Given the description of an element on the screen output the (x, y) to click on. 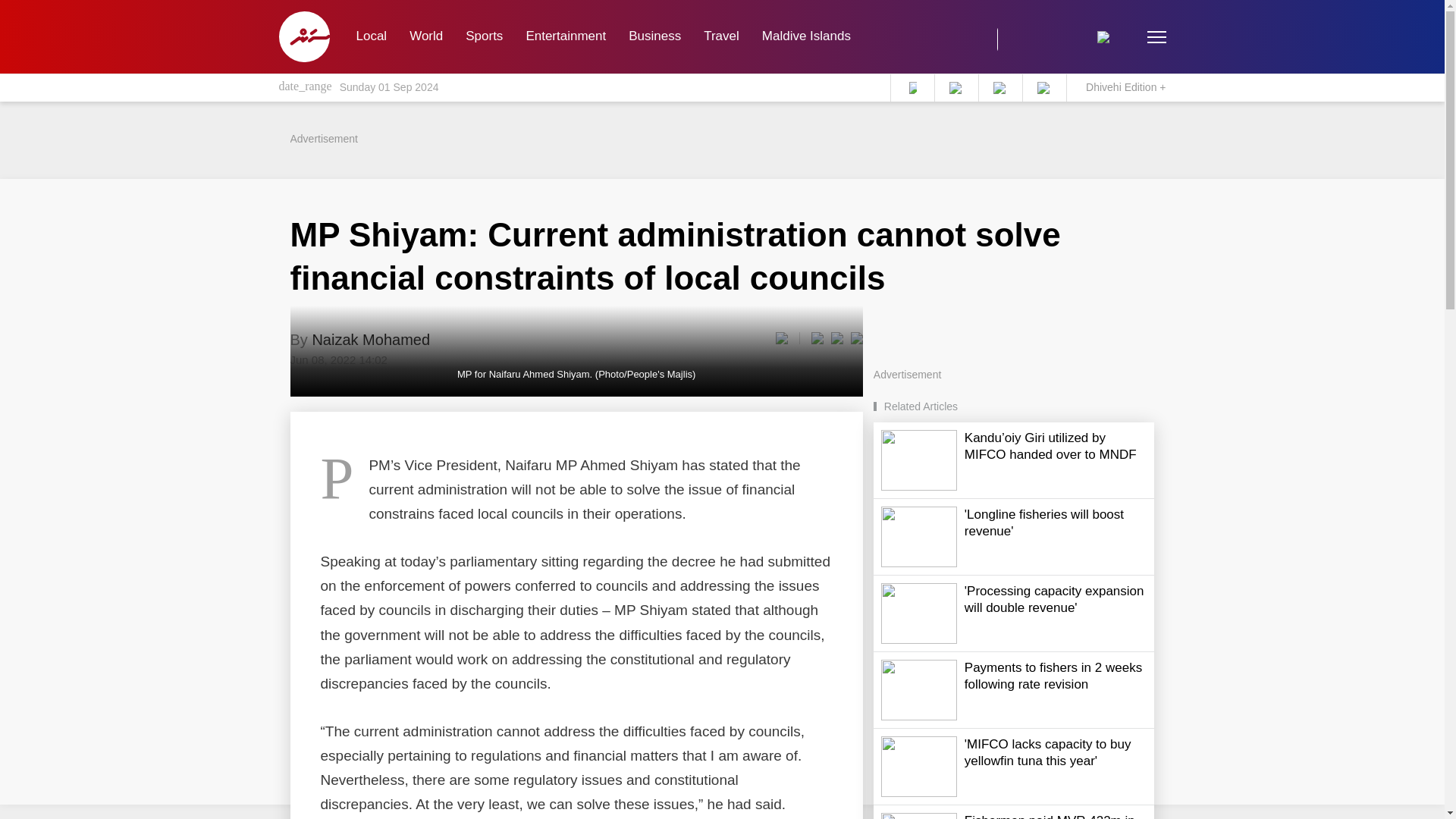
World (425, 36)
Local (370, 36)
Business (655, 36)
Maldive Islands (806, 36)
Sports (483, 36)
Travel (722, 36)
Entertainment (565, 36)
Naizak Mohamed (370, 339)
